Given the description of an element on the screen output the (x, y) to click on. 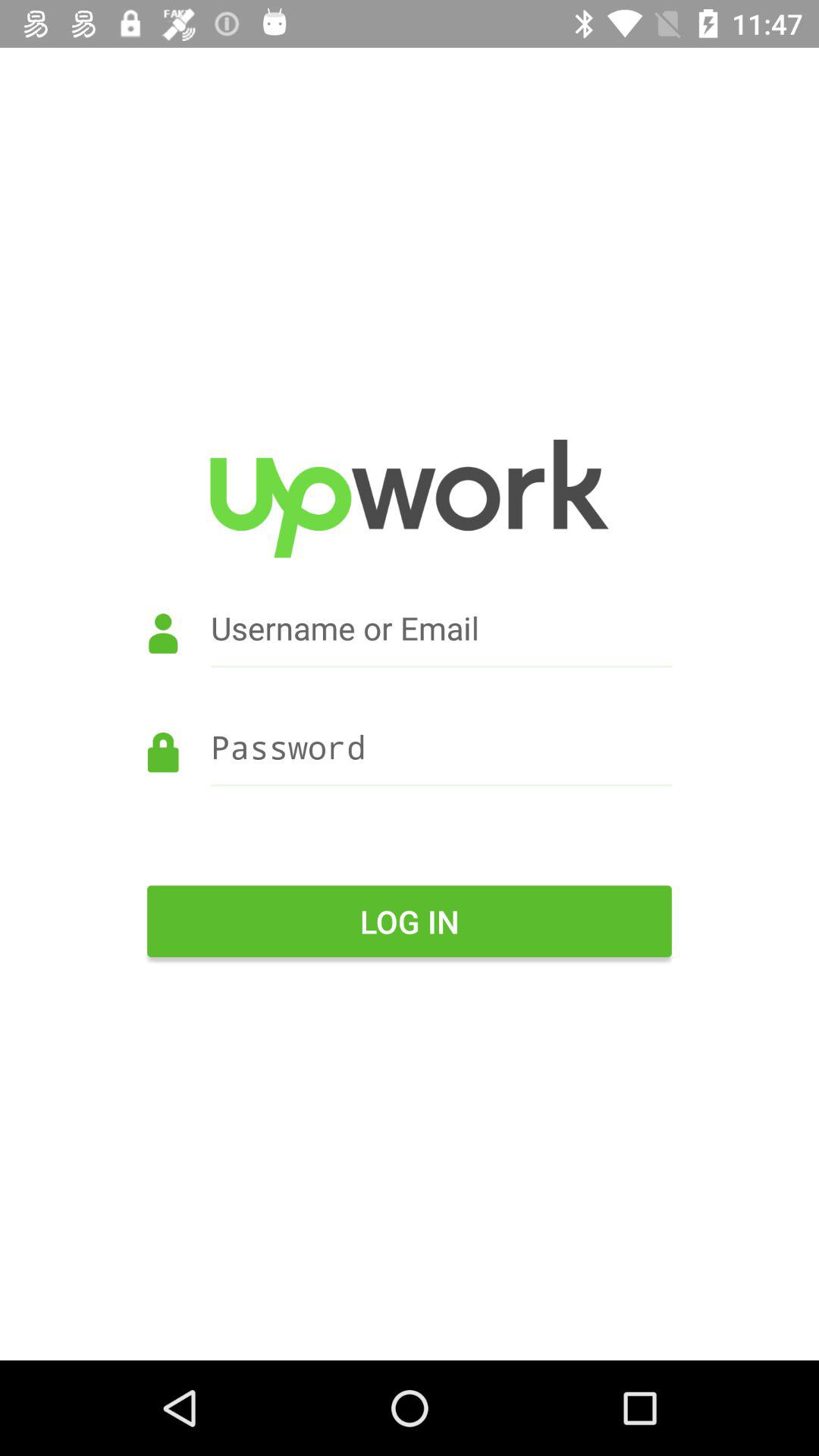
password (409, 768)
